Given the description of an element on the screen output the (x, y) to click on. 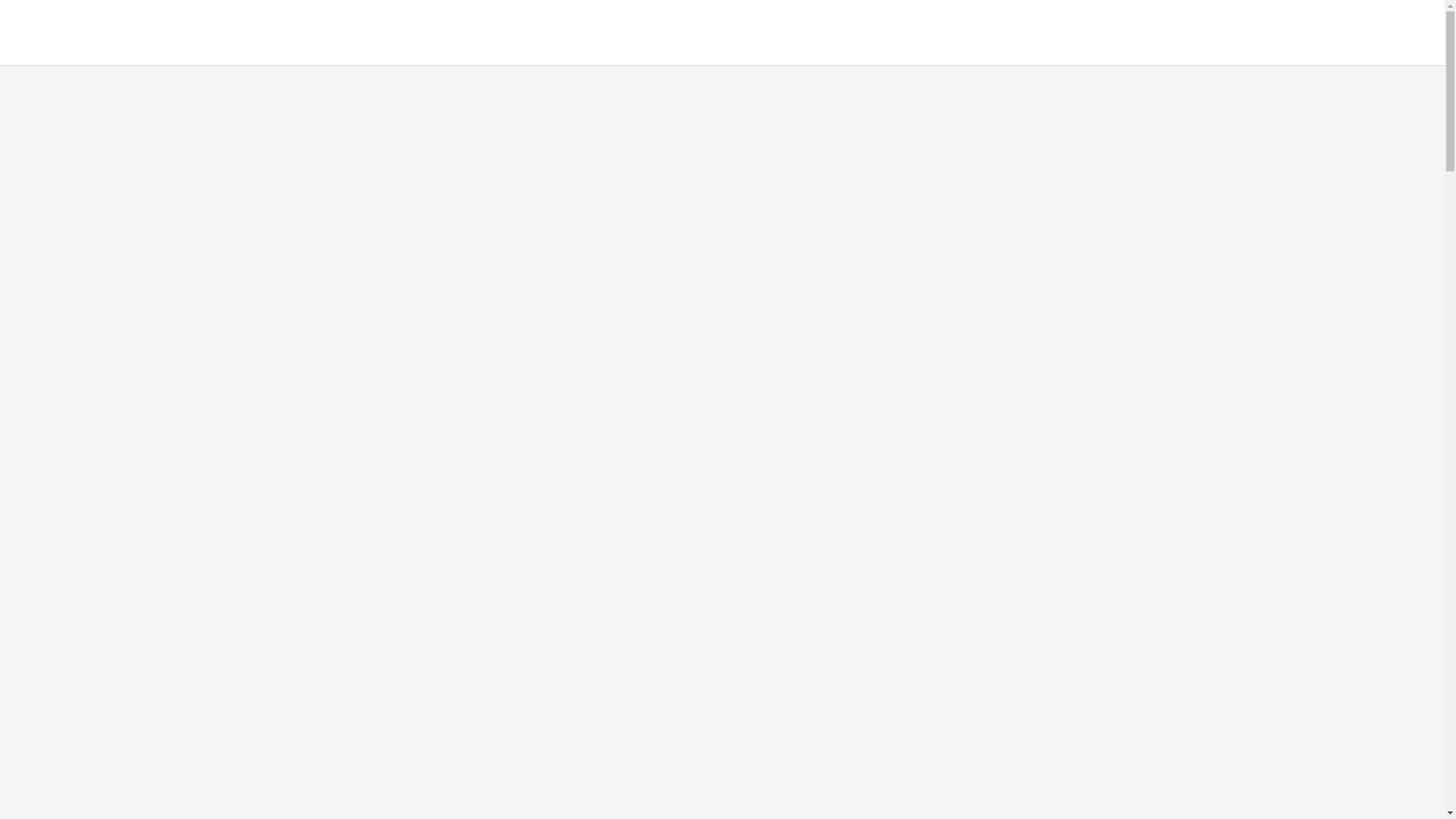
INSURANCE (1278, 32)
SERVICE (854, 32)
CONTACT US (1377, 32)
SUBSCRIPTION (1173, 32)
CancelHow (67, 23)
ORDER (976, 32)
MEMBERSHIP (1063, 32)
